Given the description of an element on the screen output the (x, y) to click on. 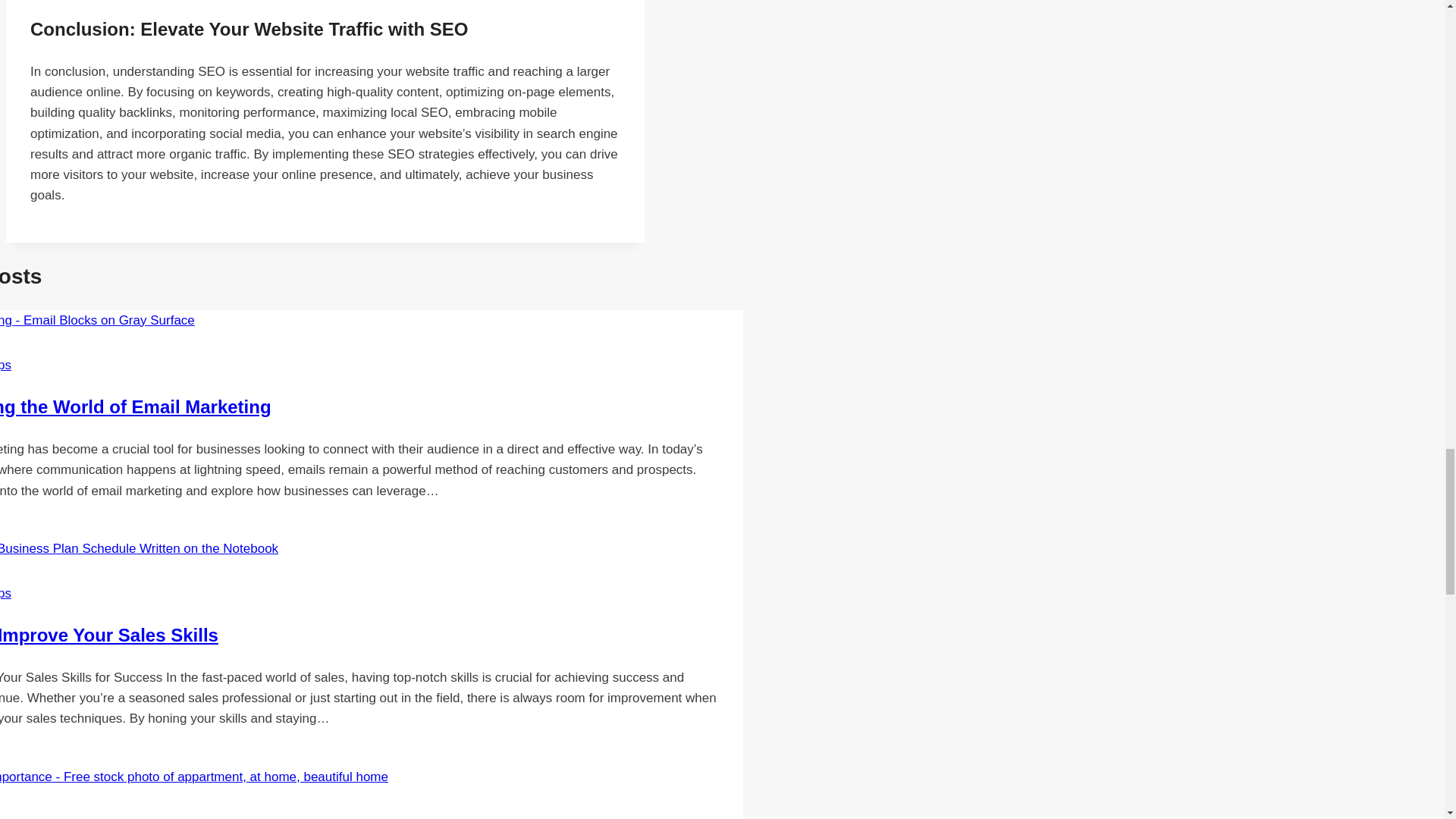
Exploring the World of Email Marketing (135, 406)
How to Improve Your Sales Skills (109, 634)
Business Tips (5, 816)
